Given the description of an element on the screen output the (x, y) to click on. 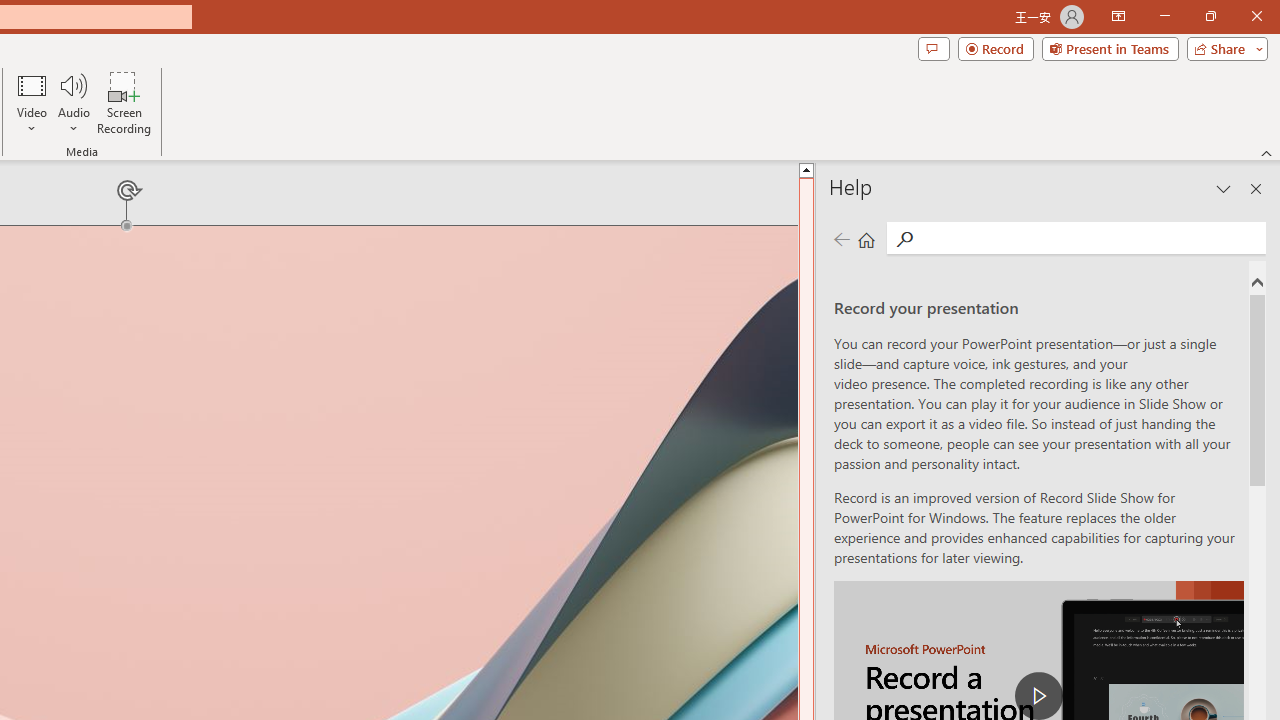
Screen Recording... (123, 102)
Audio (73, 102)
